Given the description of an element on the screen output the (x, y) to click on. 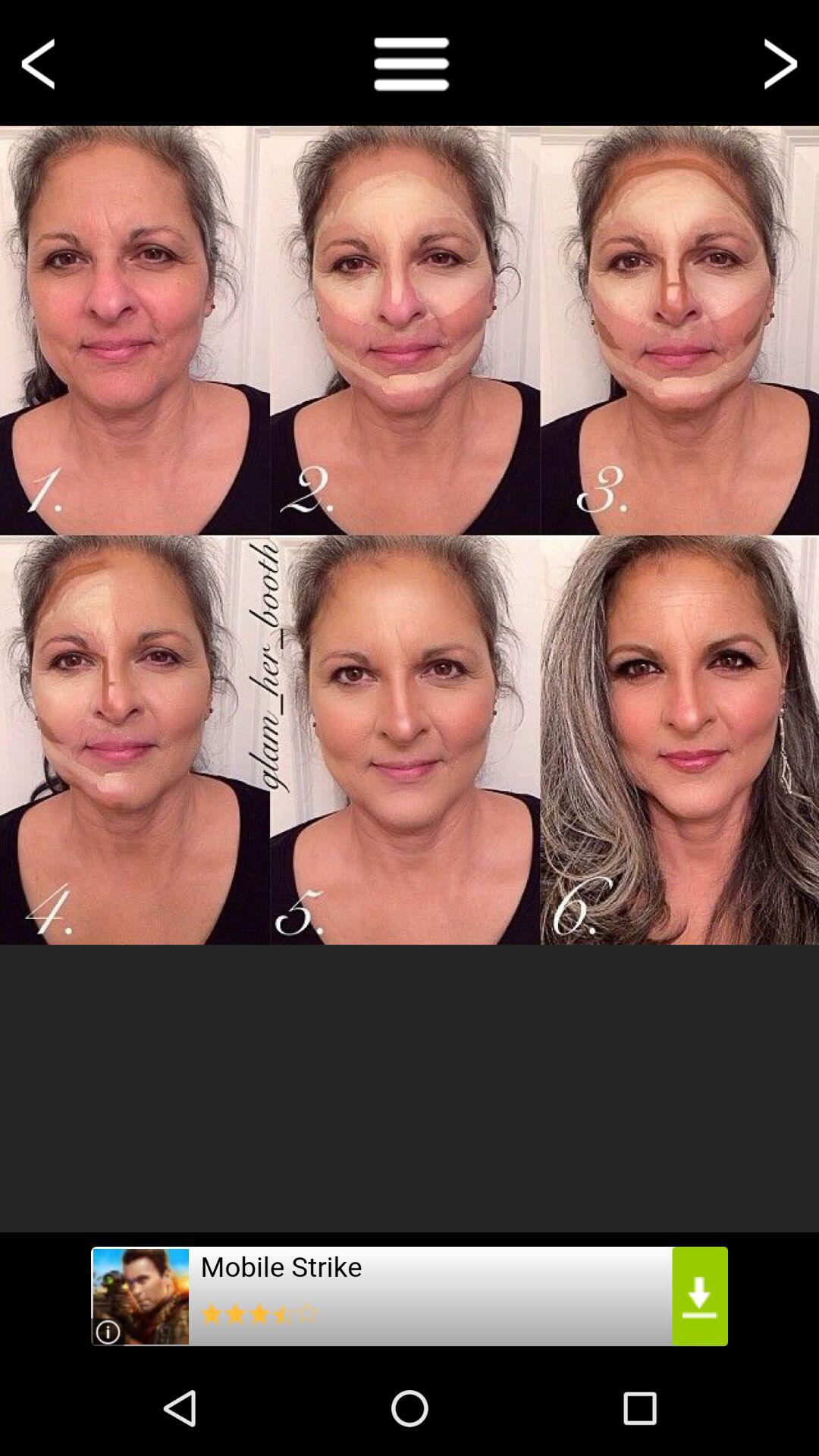
go back (40, 62)
